Given the description of an element on the screen output the (x, y) to click on. 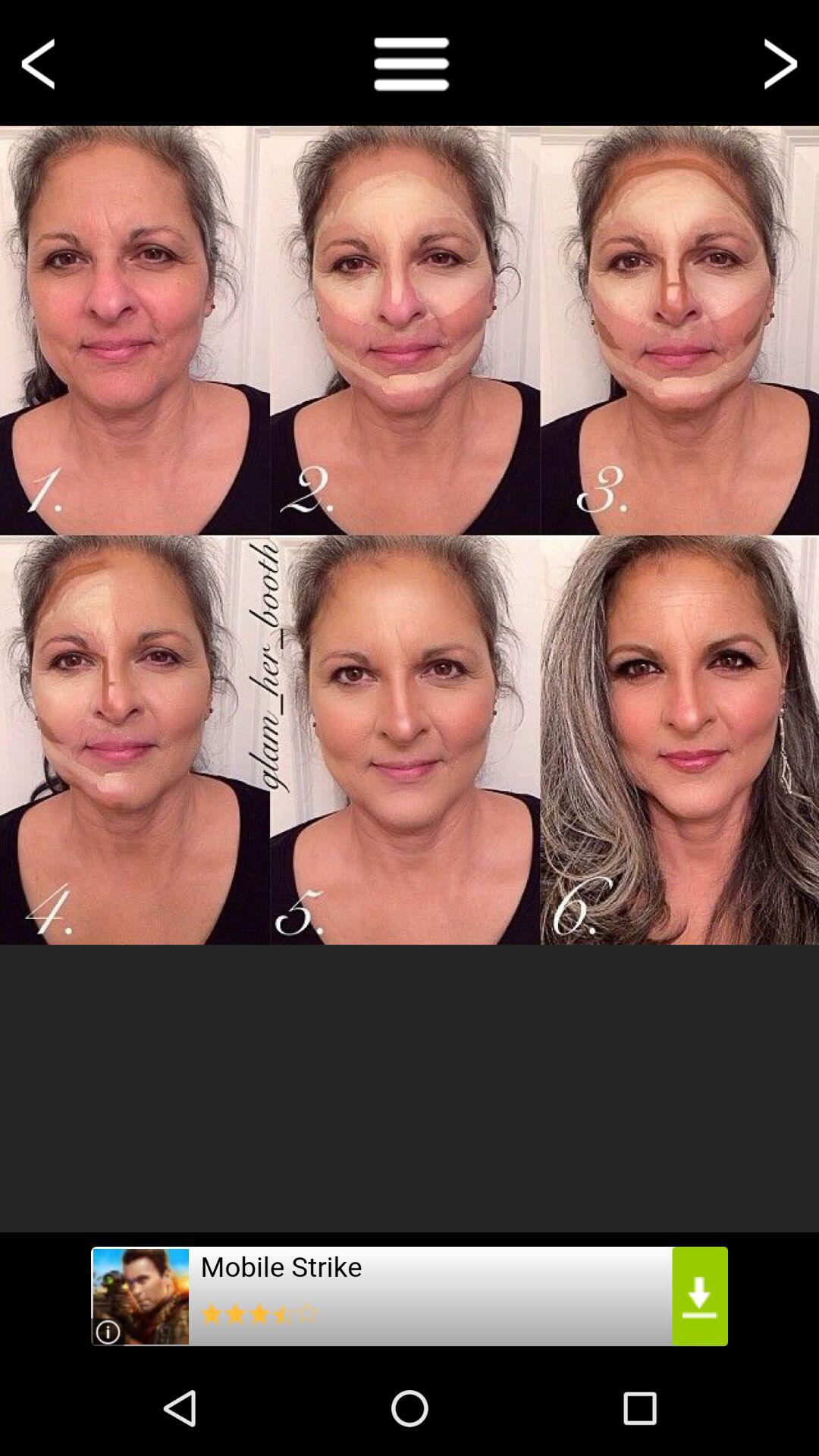
go back (40, 62)
